Given the description of an element on the screen output the (x, y) to click on. 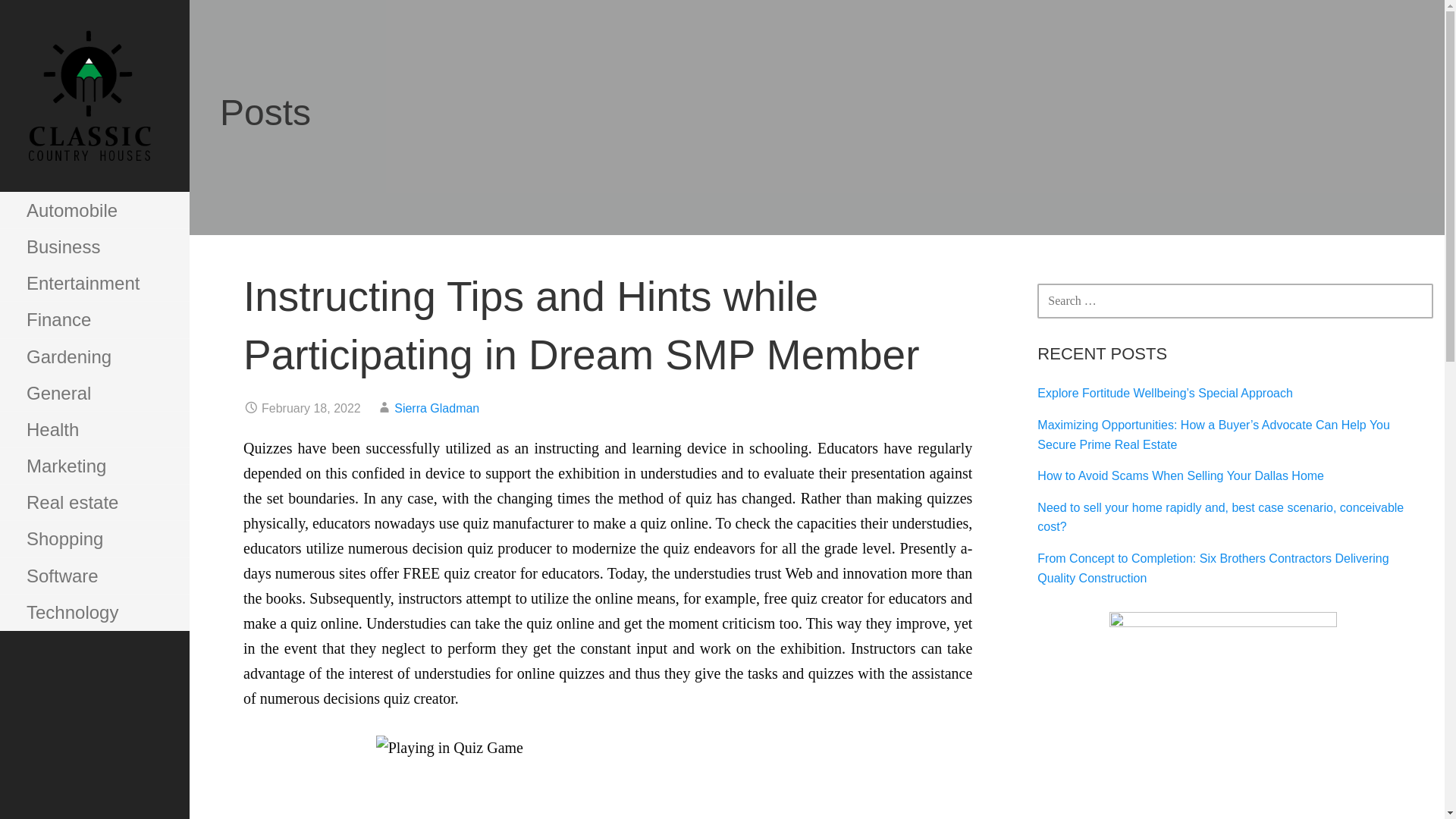
Health (94, 429)
Search (50, 18)
How to Avoid Scams When Selling Your Dallas Home (1179, 475)
CLASSIC COUNTRY HOUSES (108, 203)
Sierra Gladman (436, 408)
Entertainment (94, 283)
Marketing (94, 465)
Software (94, 575)
General (94, 393)
